Given the description of an element on the screen output the (x, y) to click on. 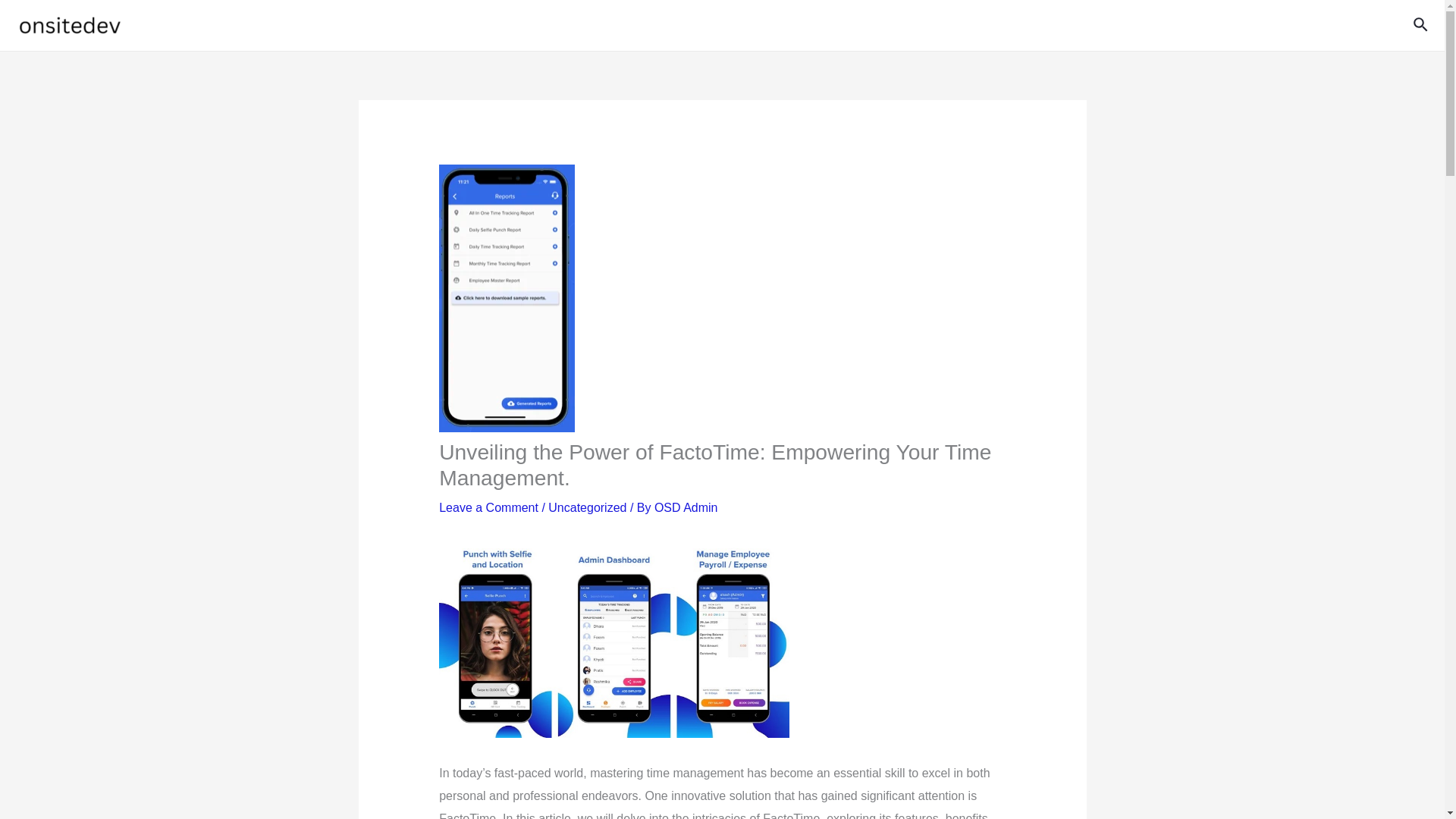
Uncategorized (587, 507)
OSD Admin (685, 507)
View all posts by OSD Admin (685, 507)
Leave a Comment (488, 507)
